Given the description of an element on the screen output the (x, y) to click on. 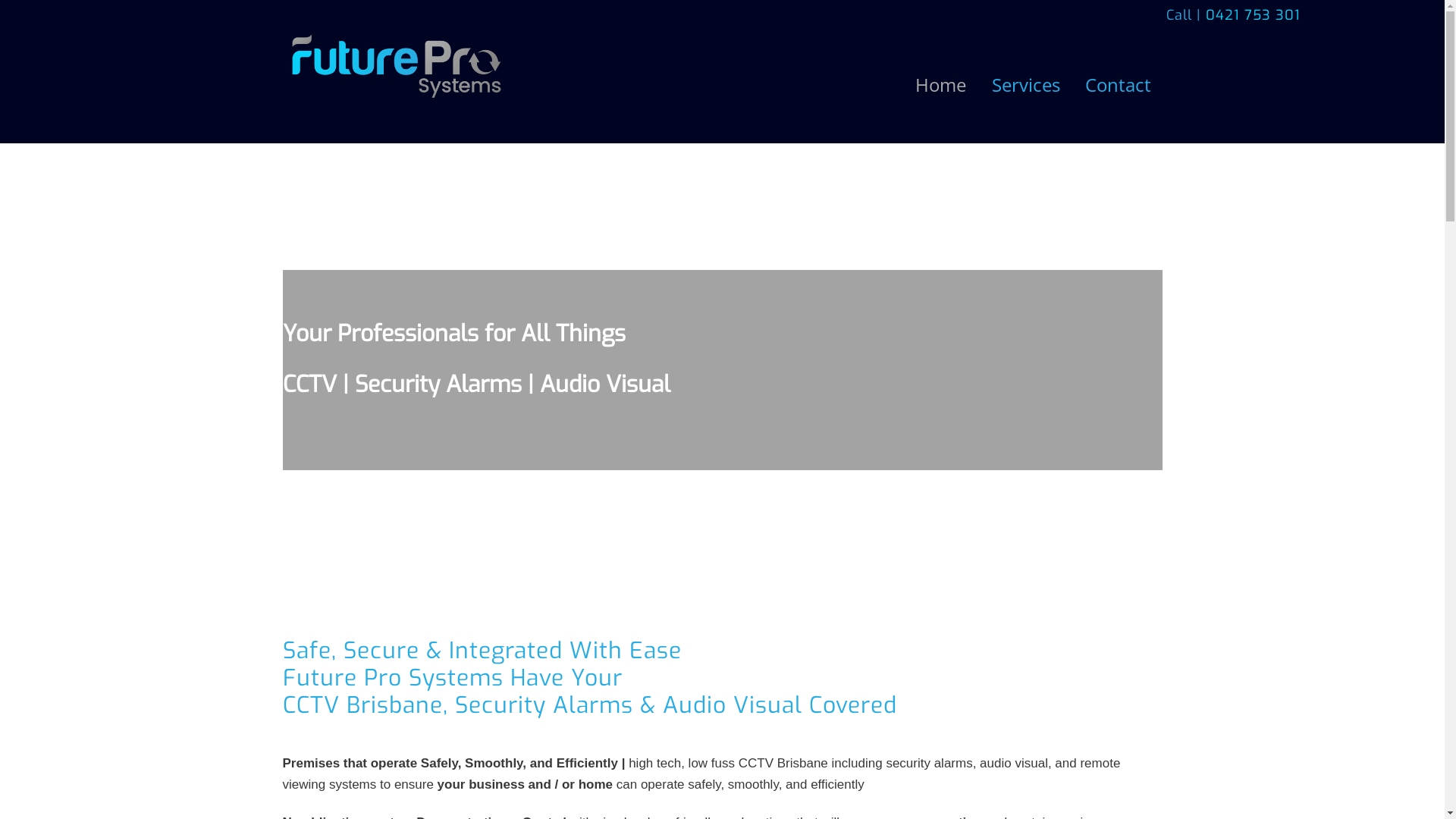
Future Pro Systems Element type: hover (395, 96)
Home Element type: text (940, 84)
0421 753 301 Element type: text (1252, 15)
Contact Element type: text (1118, 84)
Services Element type: text (1025, 84)
